Given the description of an element on the screen output the (x, y) to click on. 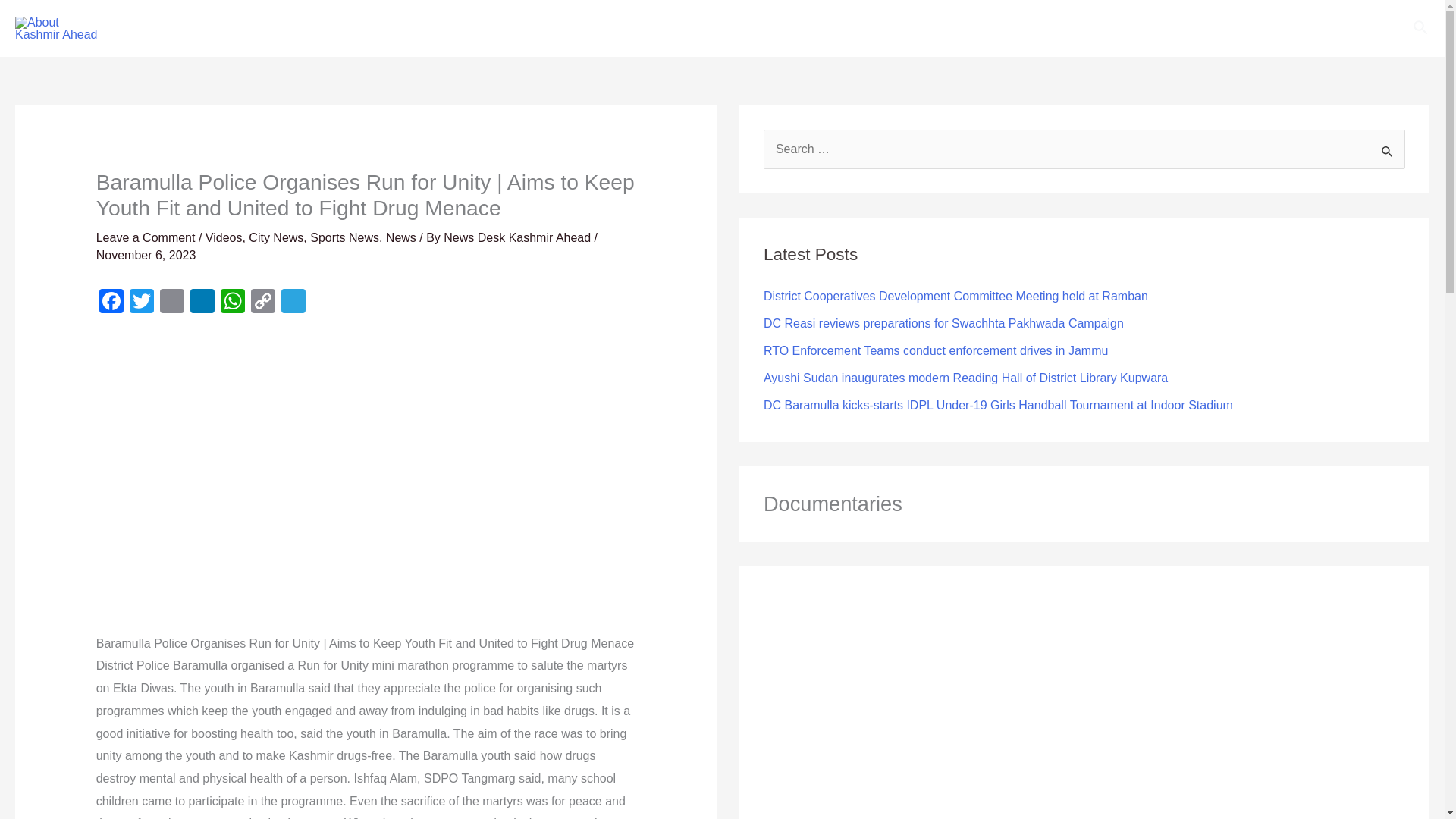
Videos (224, 237)
LinkedIn (201, 302)
Leave a Comment (145, 237)
Twitter (141, 302)
Telegram (293, 302)
Telegram (293, 302)
Twitter (141, 302)
Articles (362, 28)
News (400, 237)
Email (172, 302)
View all posts by News Desk Kashmir Ahead (519, 237)
Copy Link (262, 302)
City News (275, 237)
Home (160, 28)
Videos (291, 28)
